Given the description of an element on the screen output the (x, y) to click on. 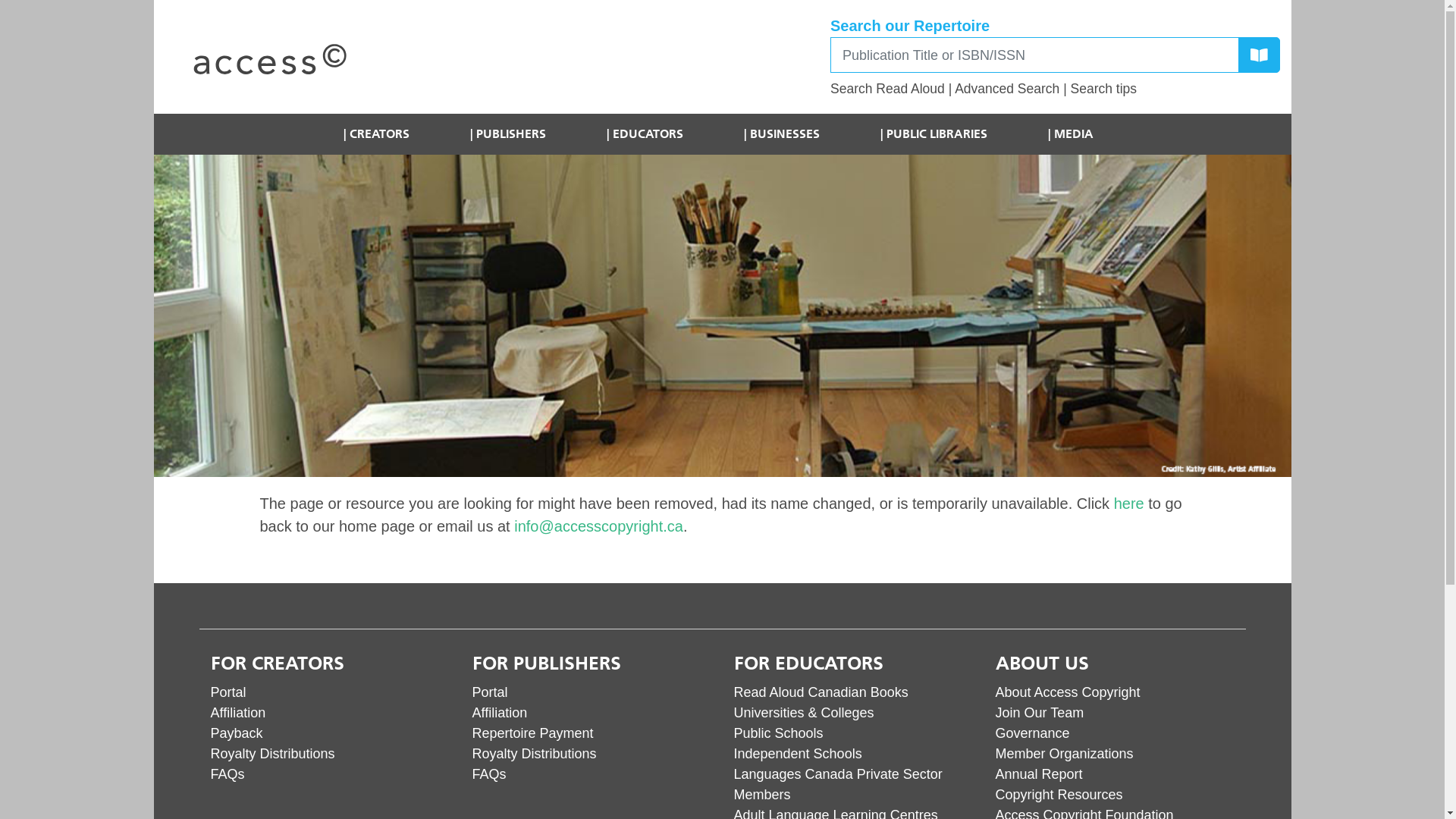
Affiliation Element type: text (238, 712)
Governance Element type: text (1031, 732)
Royalty Distributions Element type: text (533, 753)
Advanced Search Element type: text (1006, 88)
Join Our Team Element type: text (1038, 712)
FAQs Element type: text (488, 773)
EDUCATORS Element type: text (644, 133)
PUBLISHERS Element type: text (508, 133)
PUBLIC LIBRARIES Element type: text (933, 133)
Languages Canada Private Sector Members Element type: text (838, 784)
Portal Element type: text (228, 691)
CREATORS Element type: text (376, 133)
Repertoire Payment Element type: text (532, 732)
Affiliation Element type: text (499, 712)
Independent Schools Element type: text (798, 753)
Member Organizations Element type: text (1063, 753)
Universities & Colleges Element type: text (804, 712)
About Access Copyright Element type: text (1066, 691)
Search Read Aloud Element type: text (887, 88)
Annual Report Element type: text (1038, 773)
BUSINESSES Element type: text (781, 133)
Read Aloud Canadian Books Element type: text (821, 691)
Royalty Distributions Element type: text (272, 753)
MEDIA Element type: text (1070, 133)
info@accesscopyright.ca Element type: text (598, 525)
Public Schools Element type: text (778, 732)
Search tips Element type: text (1103, 88)
here Element type: text (1128, 503)
Copyright Resources Element type: text (1058, 794)
FAQs Element type: text (227, 773)
Portal Element type: text (489, 691)
Payback Element type: text (236, 732)
